Given the description of an element on the screen output the (x, y) to click on. 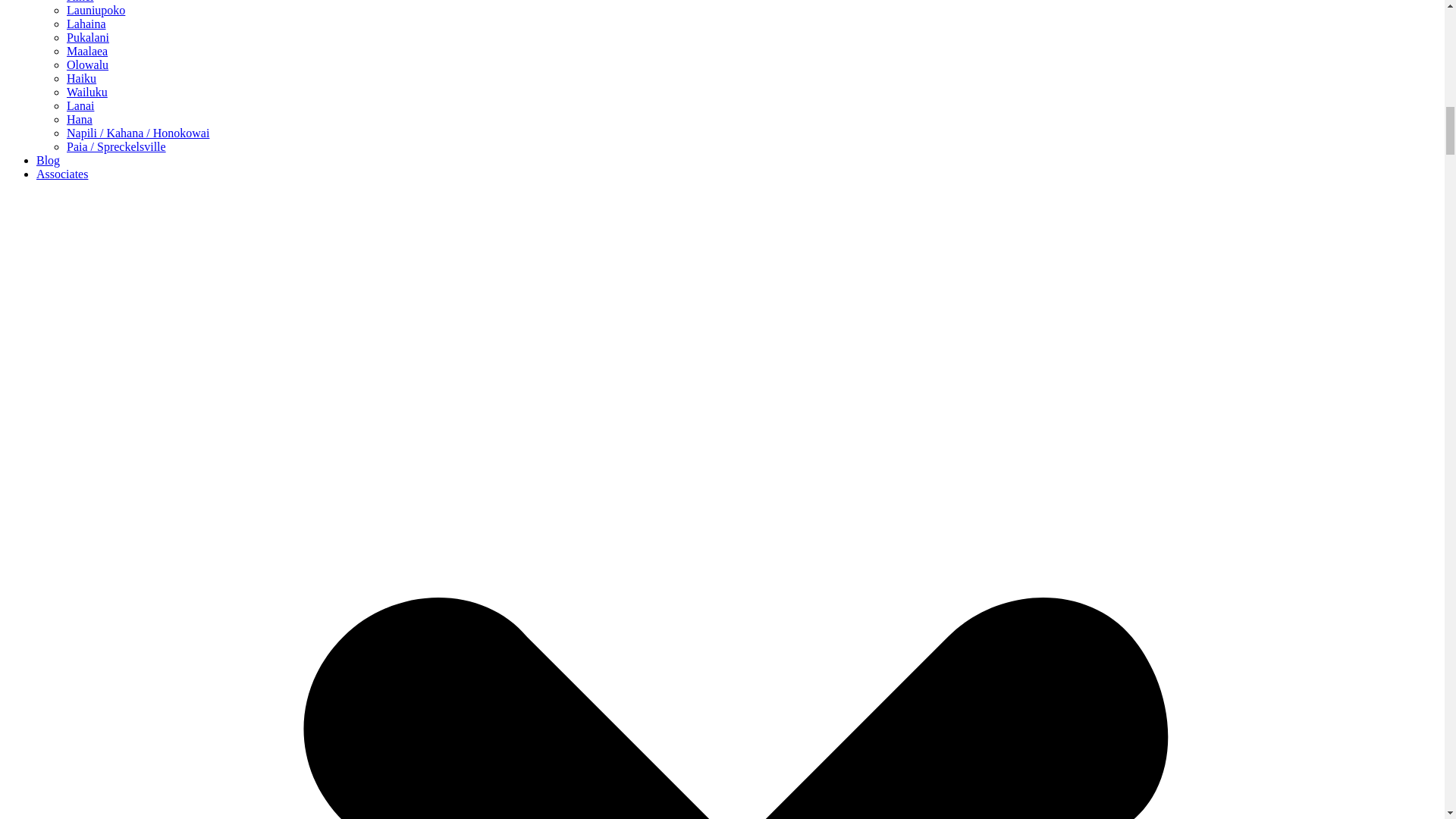
Hana (79, 119)
Launiupoko (95, 10)
Olowalu (86, 64)
Wailuku (86, 91)
Lahaina (86, 23)
Kihei (80, 1)
Maalaea (86, 51)
Blog (47, 160)
Lanai (80, 105)
Pukalani (87, 37)
